Given the description of an element on the screen output the (x, y) to click on. 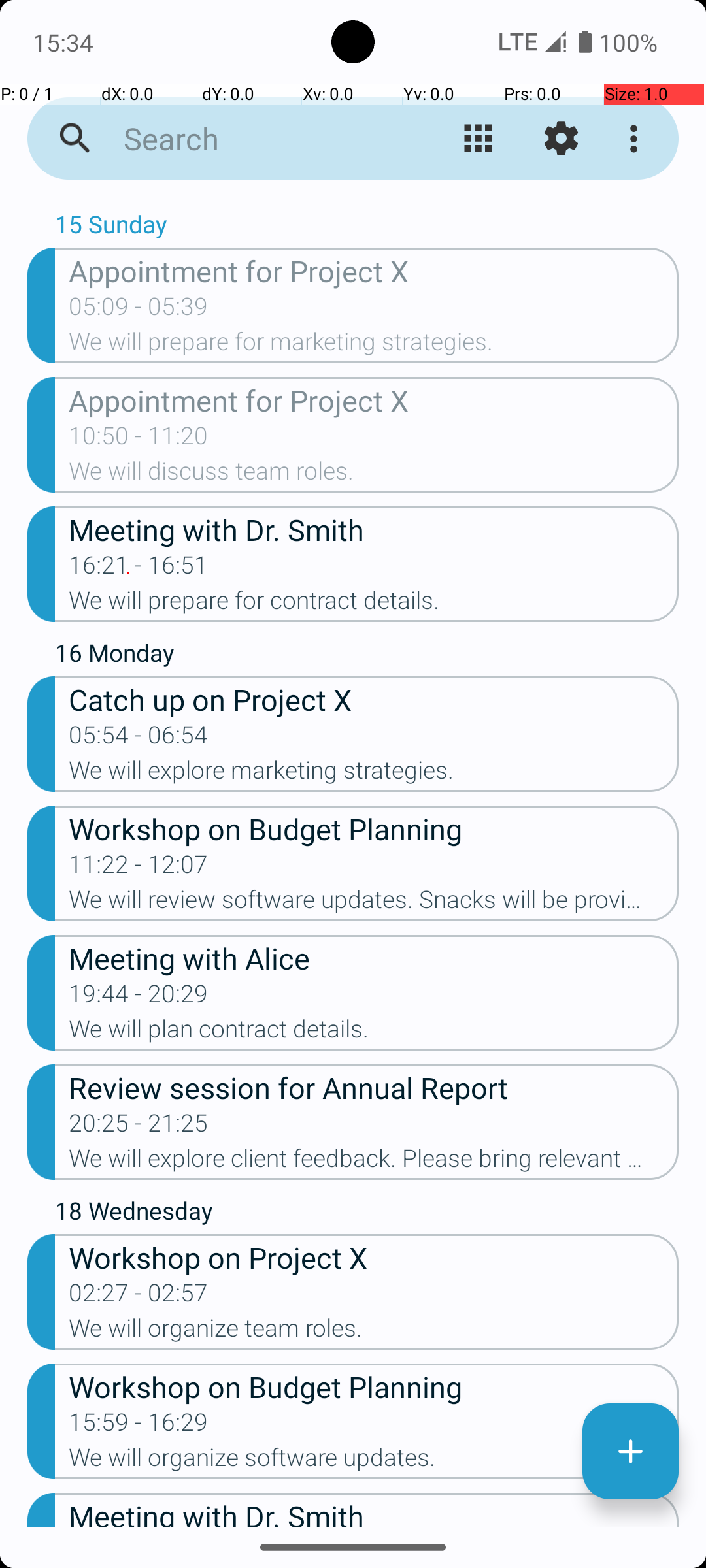
05:09 - 05:39 Element type: android.widget.TextView (137, 309)
We will prepare for marketing strategies. Element type: android.widget.TextView (373, 345)
10:50 - 11:20 Element type: android.widget.TextView (137, 439)
We will discuss team roles. Element type: android.widget.TextView (373, 474)
16:21 - 16:51 Element type: android.widget.TextView (137, 568)
We will prepare for contract details. Element type: android.widget.TextView (373, 603)
05:54 - 06:54 Element type: android.widget.TextView (137, 738)
We will explore marketing strategies. Element type: android.widget.TextView (373, 773)
11:22 - 12:07 Element type: android.widget.TextView (137, 867)
We will review software updates. Snacks will be provided. Element type: android.widget.TextView (373, 903)
Meeting with Alice Element type: android.widget.TextView (373, 957)
19:44 - 20:29 Element type: android.widget.TextView (137, 997)
We will plan contract details. Element type: android.widget.TextView (373, 1032)
20:25 - 21:25 Element type: android.widget.TextView (137, 1126)
We will explore client feedback. Please bring relevant documents. Element type: android.widget.TextView (373, 1161)
02:27 - 02:57 Element type: android.widget.TextView (137, 1296)
We will organize team roles. Element type: android.widget.TextView (373, 1331)
15:59 - 16:29 Element type: android.widget.TextView (137, 1425)
We will organize software updates. Element type: android.widget.TextView (373, 1461)
